Given the description of an element on the screen output the (x, y) to click on. 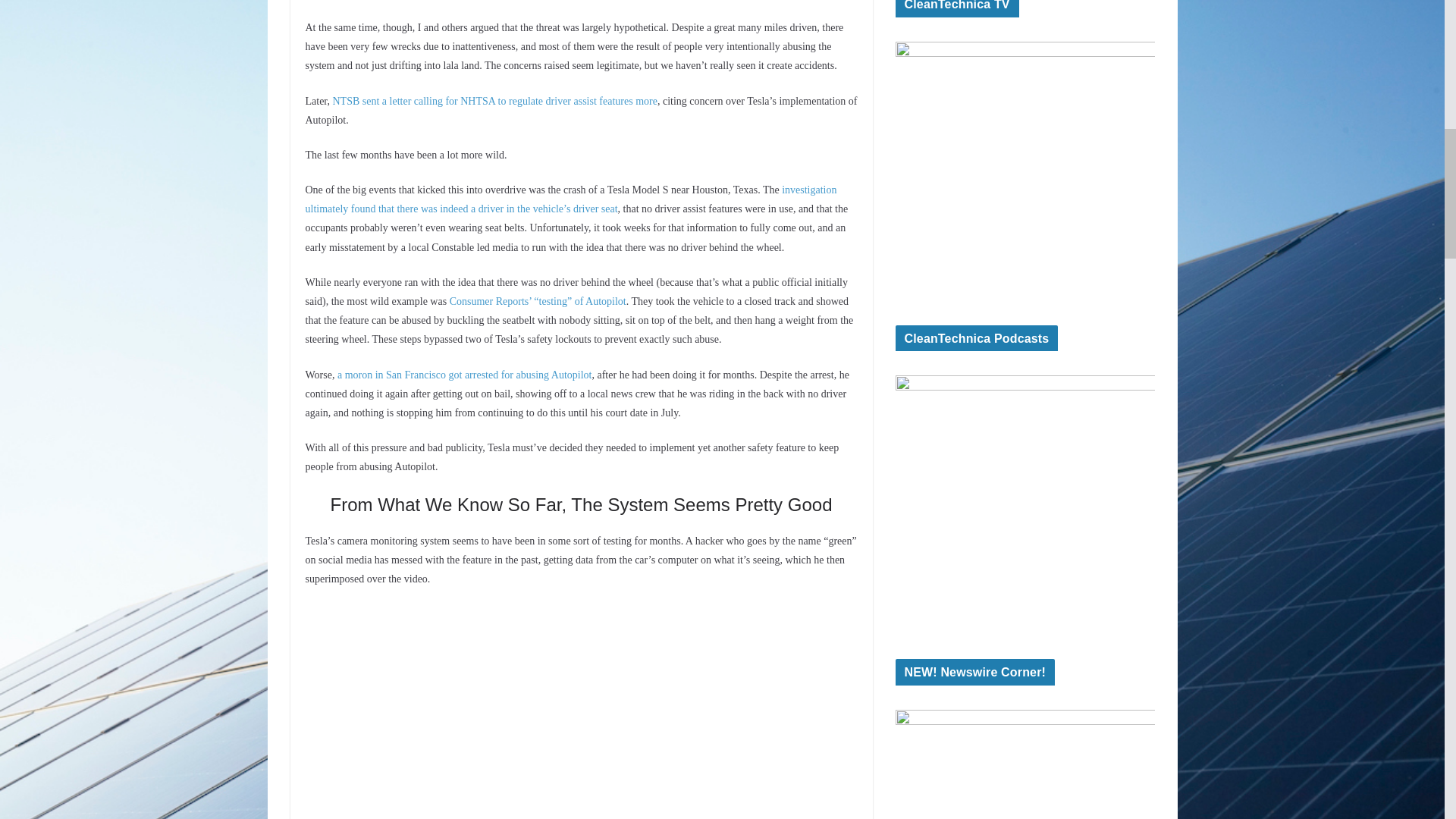
Tesla hacker hard at work (580, 711)
